Given the description of an element on the screen output the (x, y) to click on. 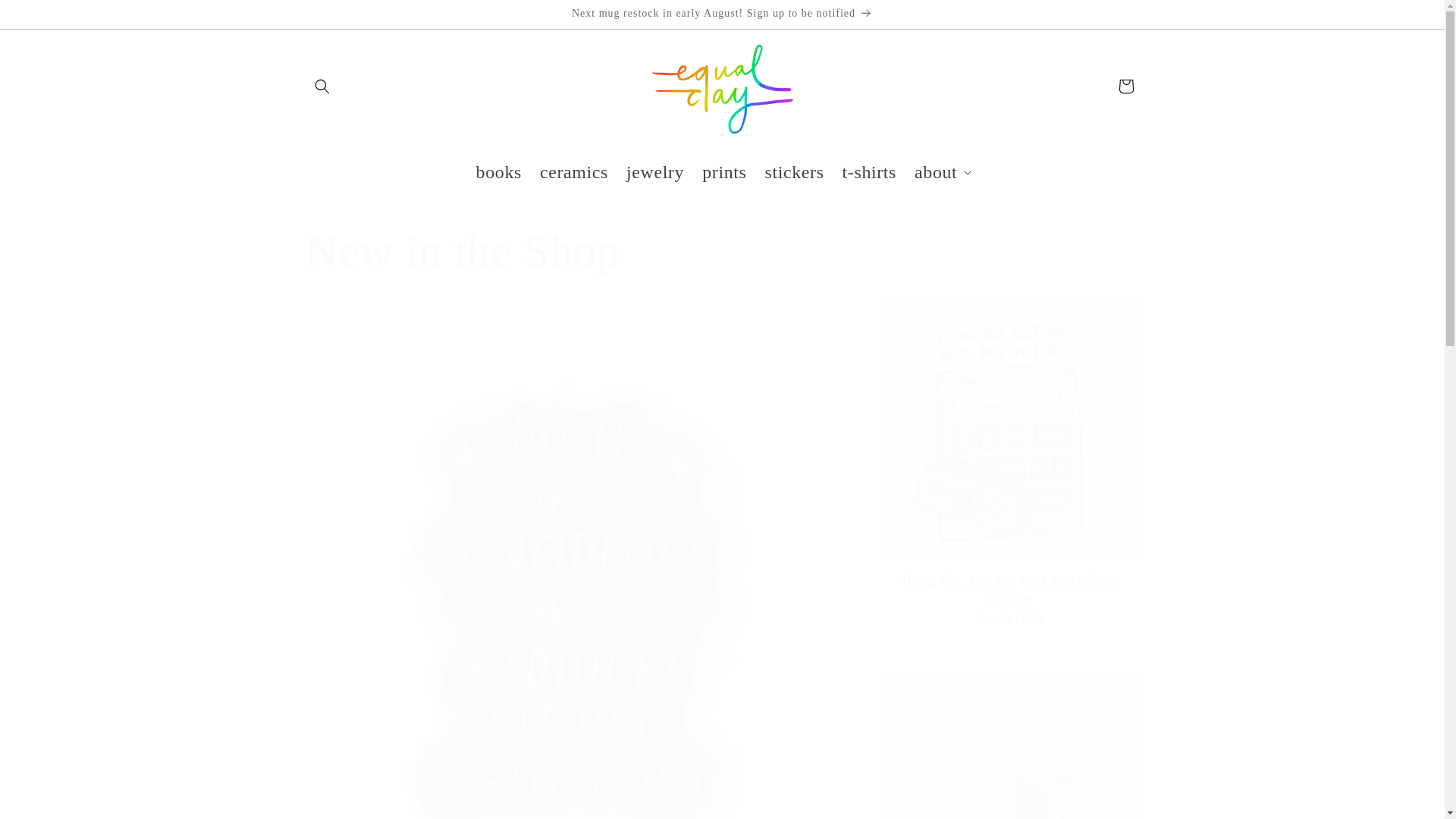
Cart (1124, 86)
Next mug restock in early August! Sign up to be notified (721, 14)
stickers (793, 172)
ceramics (574, 172)
t-shirts (868, 172)
books (499, 172)
jewelry (655, 172)
Skip to content (45, 17)
New in the Shop (721, 250)
prints (724, 172)
